Given the description of an element on the screen output the (x, y) to click on. 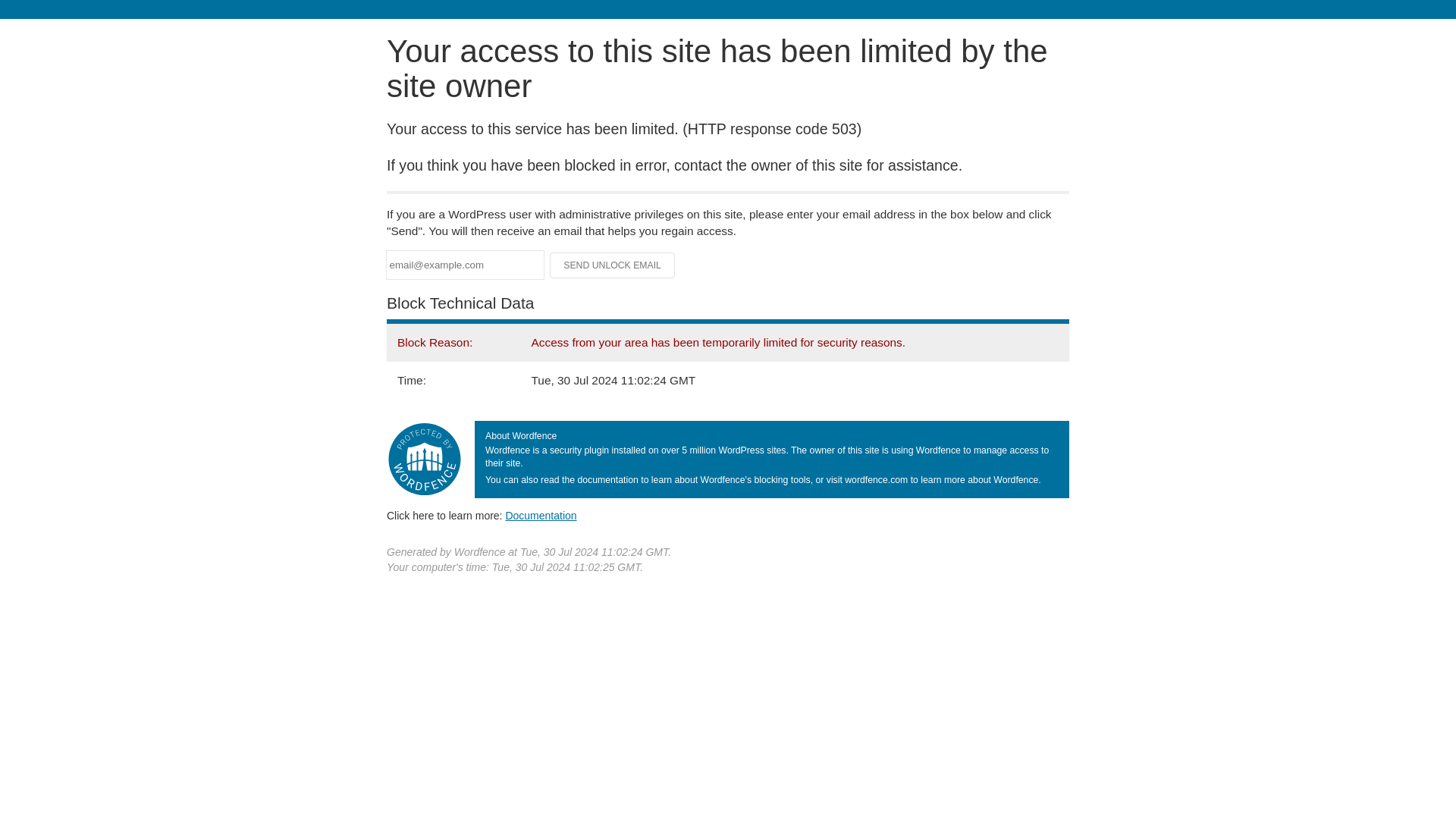
Documentation (540, 515)
Send Unlock Email (612, 265)
Send Unlock Email (612, 265)
